Given the description of an element on the screen output the (x, y) to click on. 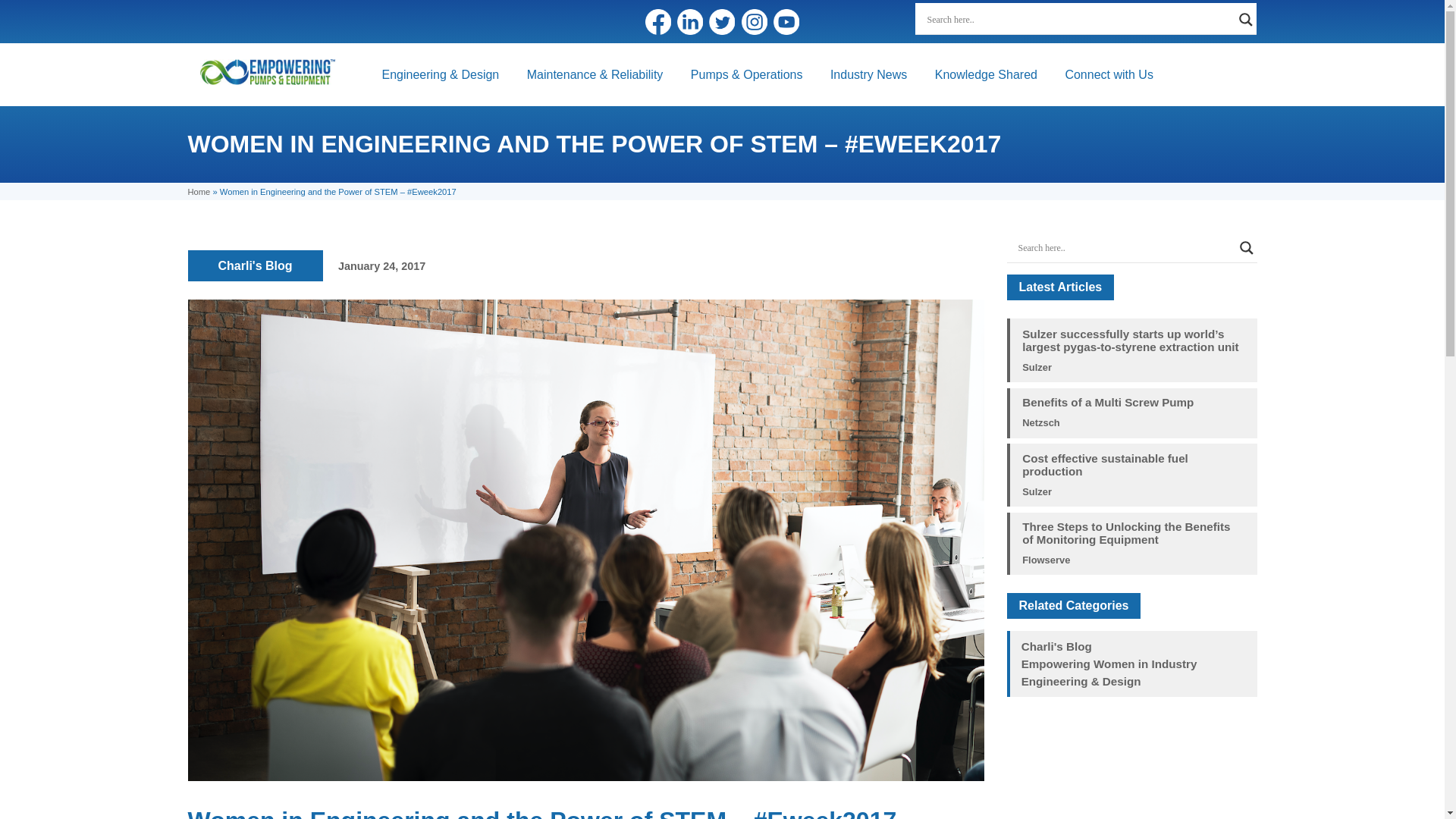
Empowering Pumps on Instagram (754, 22)
Empowering Pumps (267, 71)
Empowering Pumps on YouTube (786, 22)
Empowering Pumps on Facebook (658, 22)
Instagram (754, 22)
Knowledge Shared (986, 73)
Empowering Pumps on Twitter (722, 22)
Industry News (868, 73)
YouTube (786, 22)
LinkedIn (690, 22)
